Given the description of an element on the screen output the (x, y) to click on. 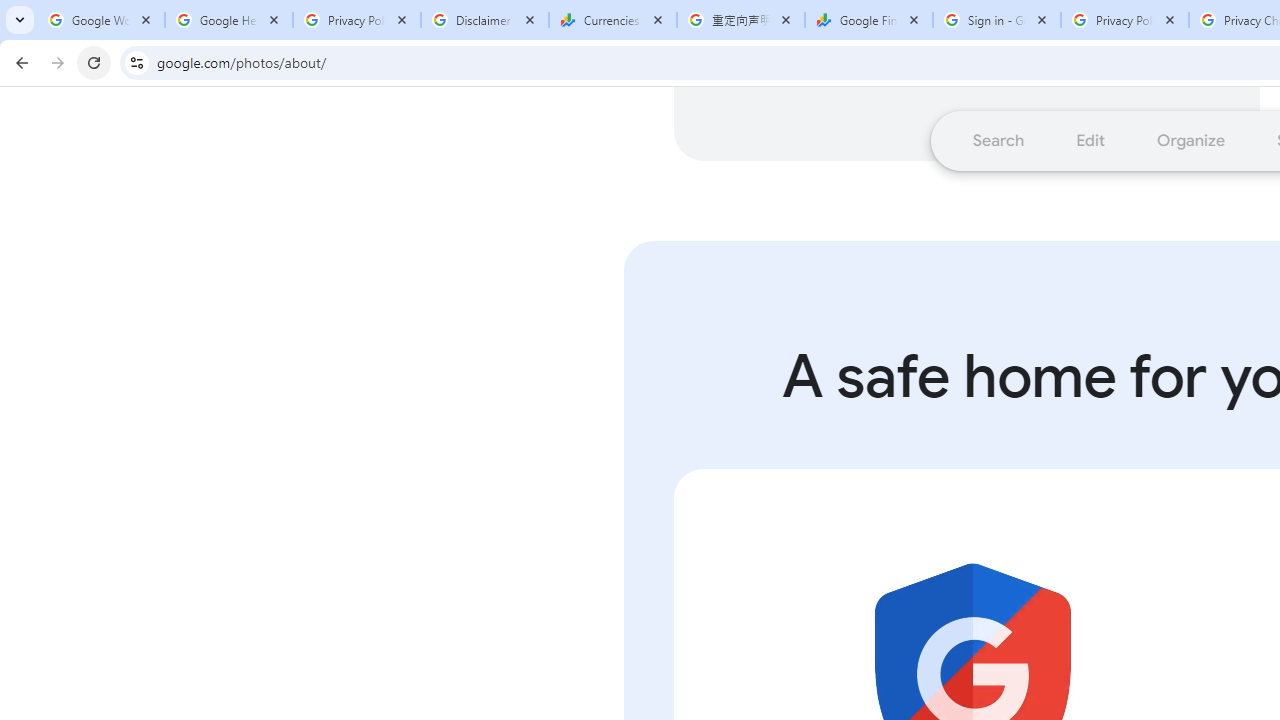
Go to section: Search (998, 140)
Currencies - Google Finance (613, 20)
